Given the description of an element on the screen output the (x, y) to click on. 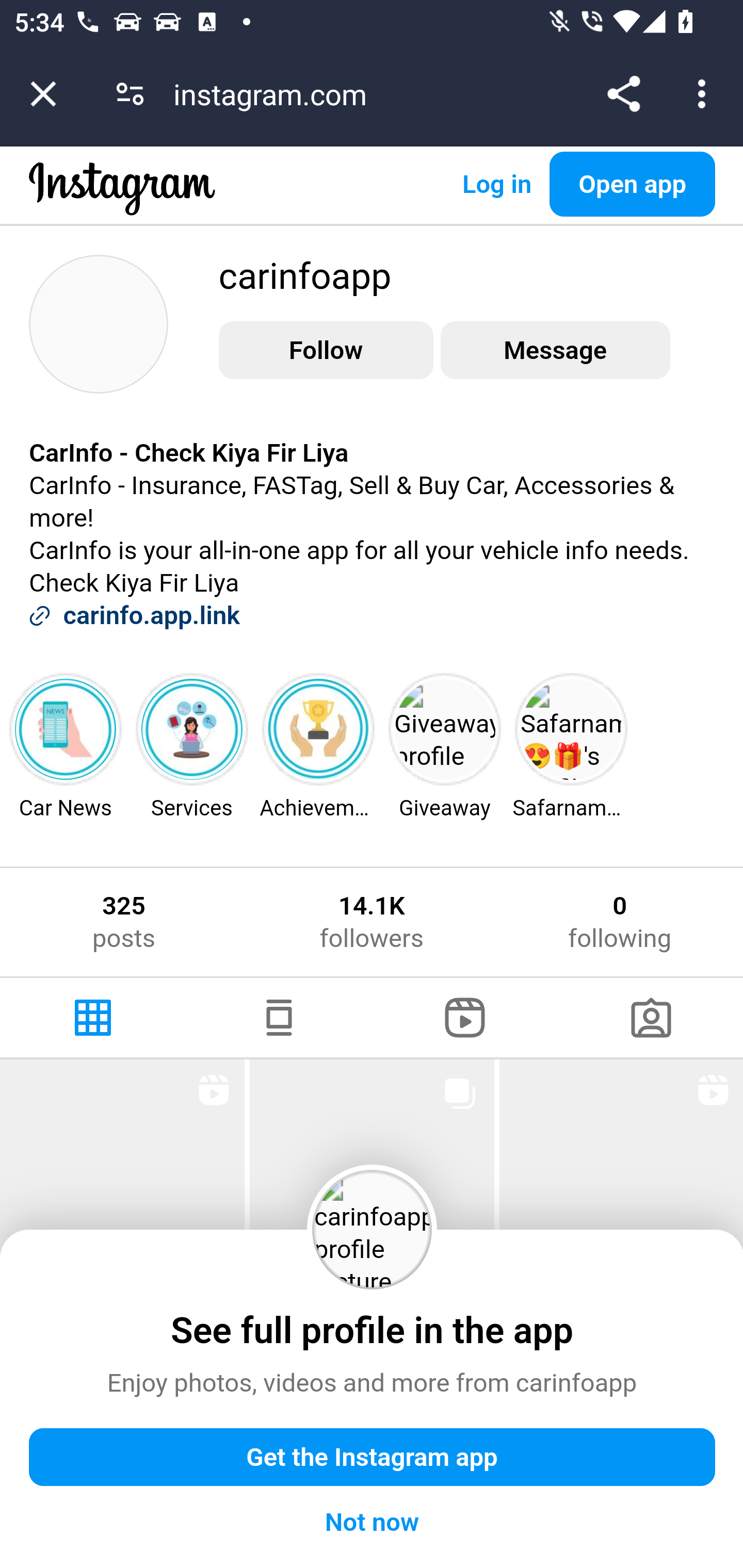
Close tab (43, 93)
Share (623, 93)
Customize and control Google Chrome (705, 93)
Connection is secure (129, 93)
instagram.com (277, 93)
Log in (495, 184)
Open app (632, 184)
Instagram Instagram Instagram Instagram (122, 203)
Follow (325, 350)
Message (554, 350)
carinfo.app.link (151, 614)
Car News's profile picture (65, 729)
Services's profile picture (192, 729)
Achievements 🥳's profile picture (318, 729)
Giveaway's profile picture (444, 729)
Safarnama😍🎁's profile picture (571, 729)
325 posts (124, 920)
14.1K followers (371, 920)
0 following (619, 920)
Posts (93, 1017)
Feed (278, 1017)
Reels (465, 1017)
Tagged (649, 1017)
Get the Instagram app (372, 1458)
Not now (372, 1522)
